Given the description of an element on the screen output the (x, y) to click on. 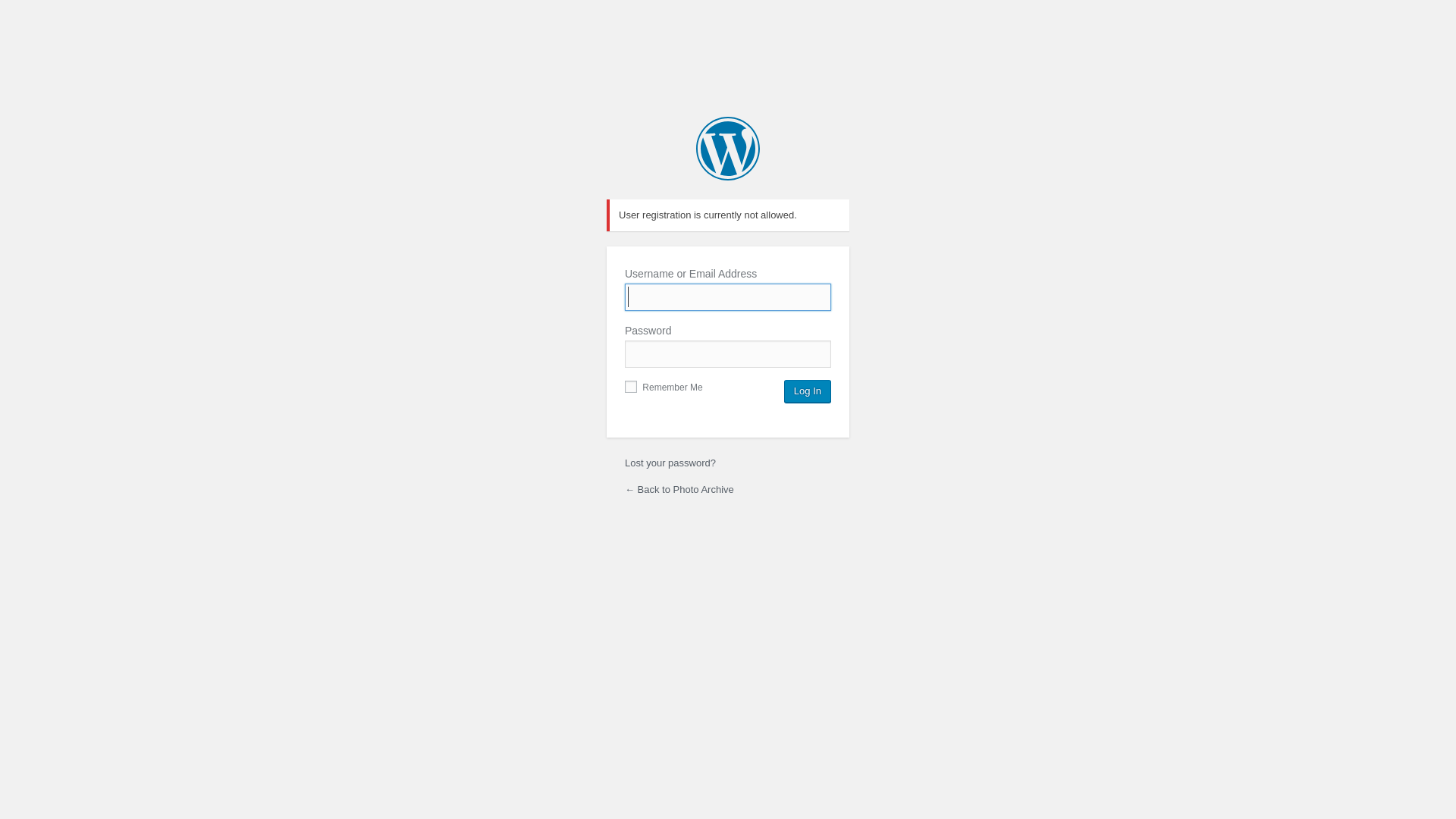
Log In Element type: text (807, 390)
Photo Archive Element type: text (727, 148)
Lost your password? Element type: text (669, 462)
